Given the description of an element on the screen output the (x, y) to click on. 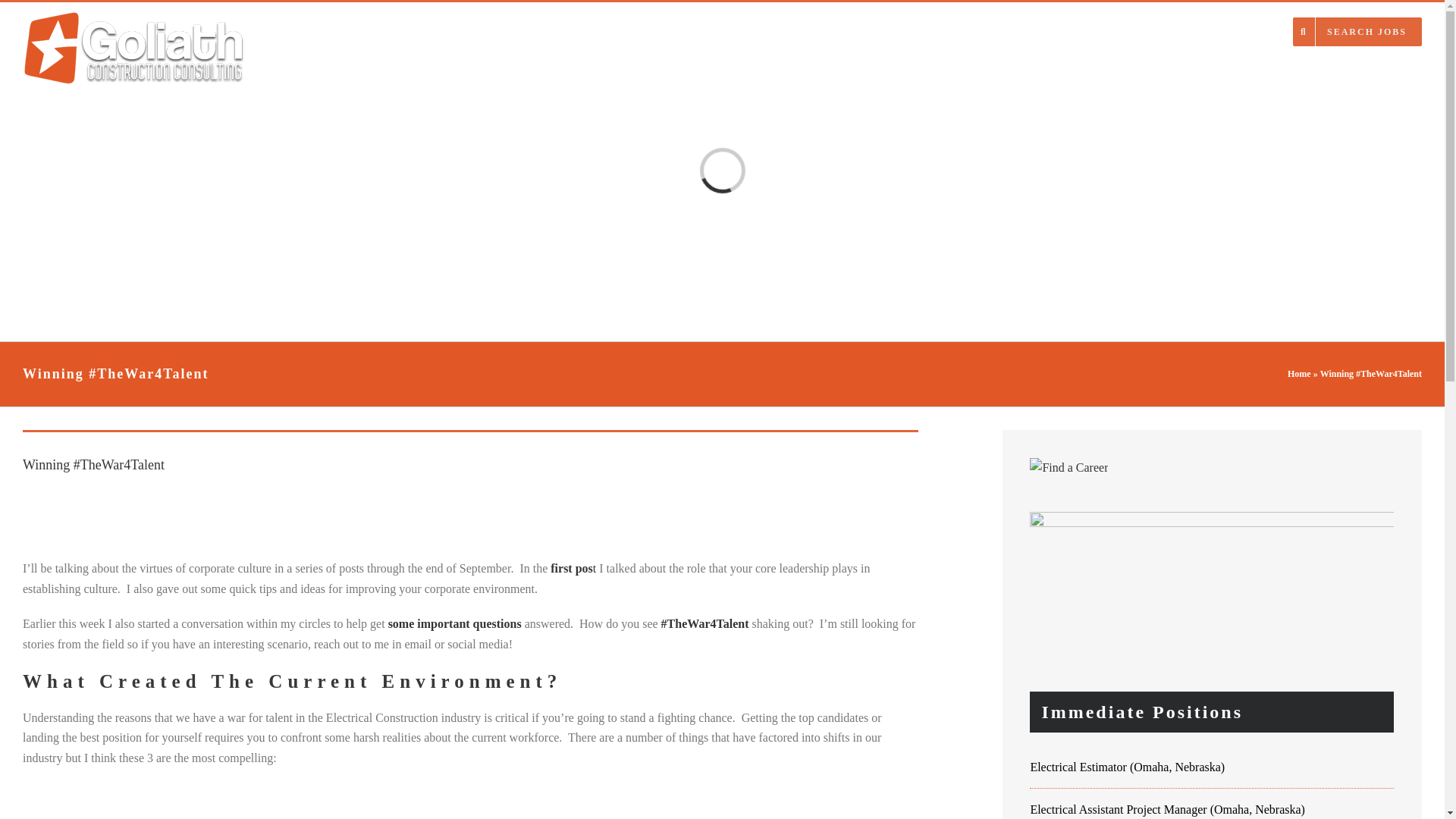
TESTIMONIALS (1144, 30)
EMPLOYERS (986, 30)
first post (572, 567)
JOB SEEKERS (892, 30)
SEARCH JOBS (1357, 30)
Home (1299, 373)
some important questions (454, 623)
